Given the description of an element on the screen output the (x, y) to click on. 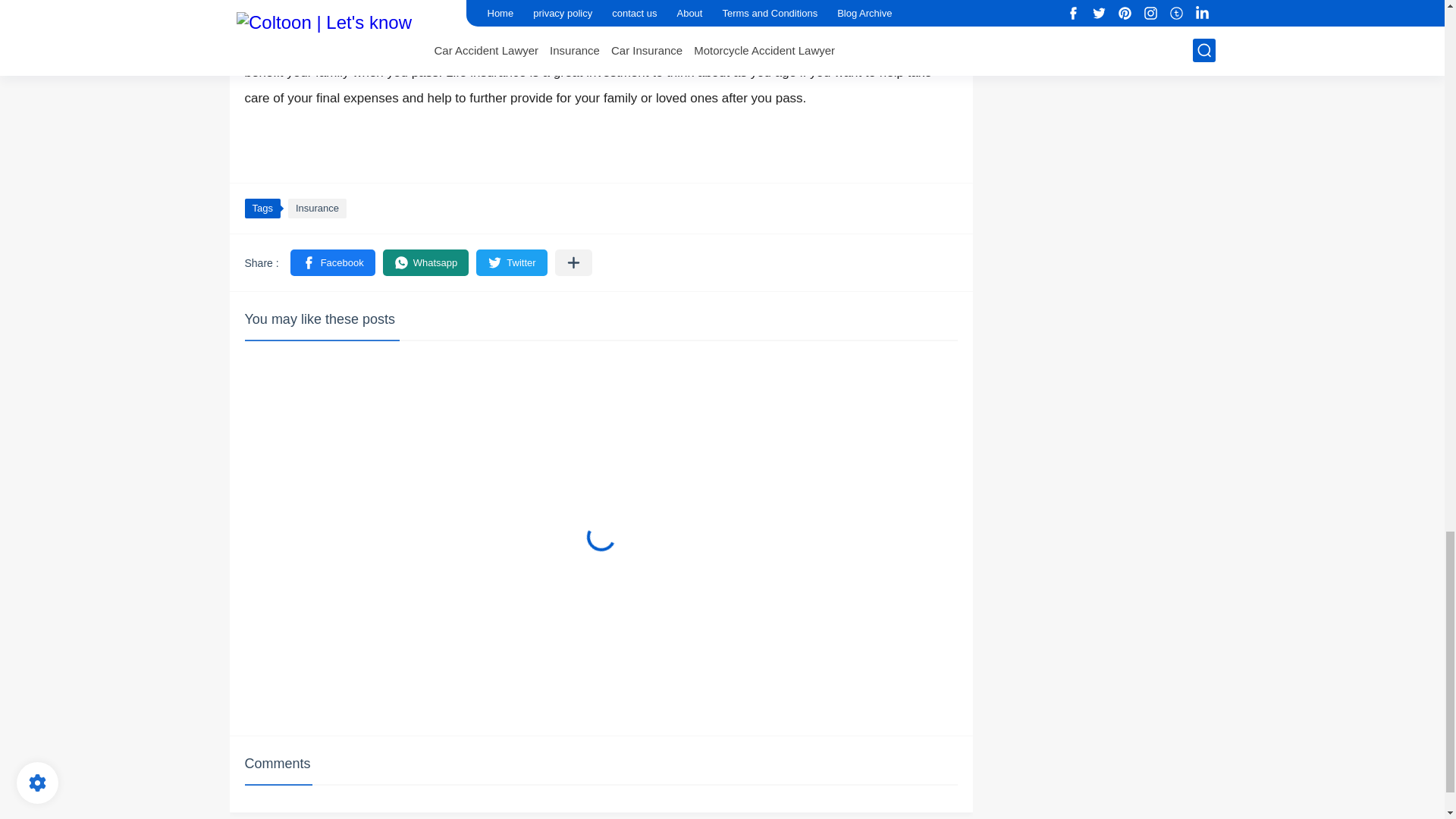
Insurance (317, 208)
Insurance (317, 208)
